Given the description of an element on the screen output the (x, y) to click on. 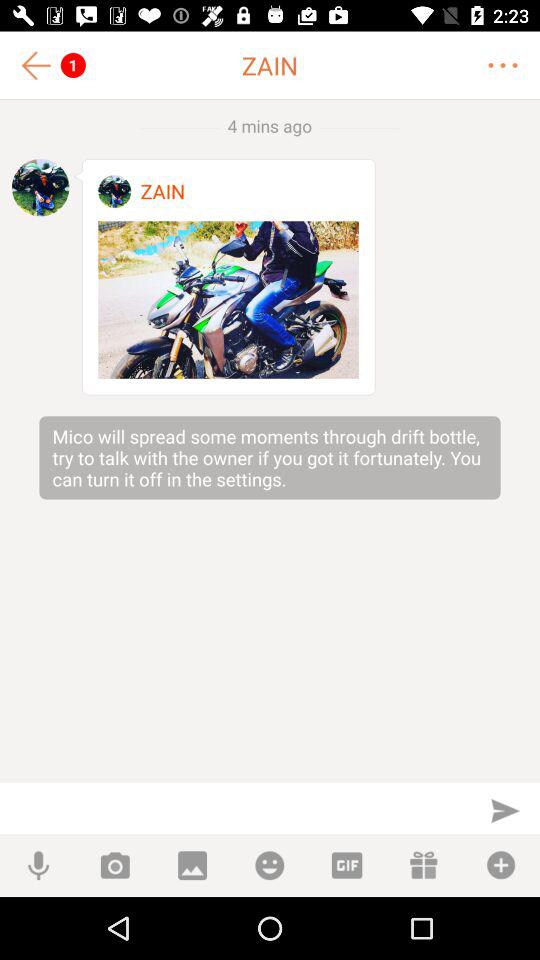
take a picture (114, 865)
